Given the description of an element on the screen output the (x, y) to click on. 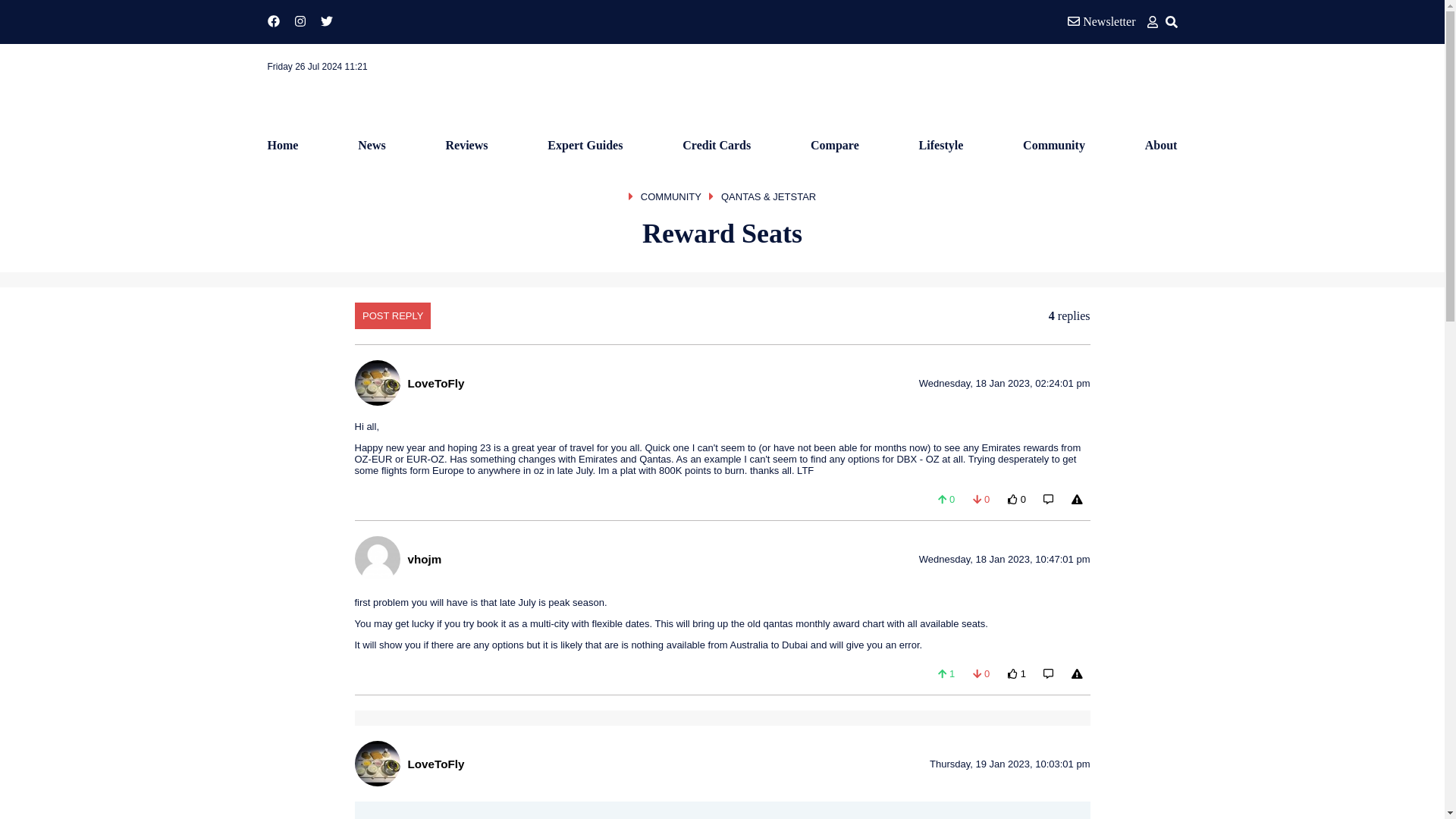
LoveToFly (435, 382)
Report this post (1077, 673)
Reply with Quote (1048, 673)
vhojm (424, 558)
Like (946, 673)
Thank vhojm for this helpful post (1016, 673)
Report this post (1077, 499)
LoveToFly (435, 762)
Dislike (981, 673)
Reply with Quote (1048, 499)
Thank LoveToFly for this helpful post (1016, 499)
Like (946, 499)
Dislike (981, 499)
